Given the description of an element on the screen output the (x, y) to click on. 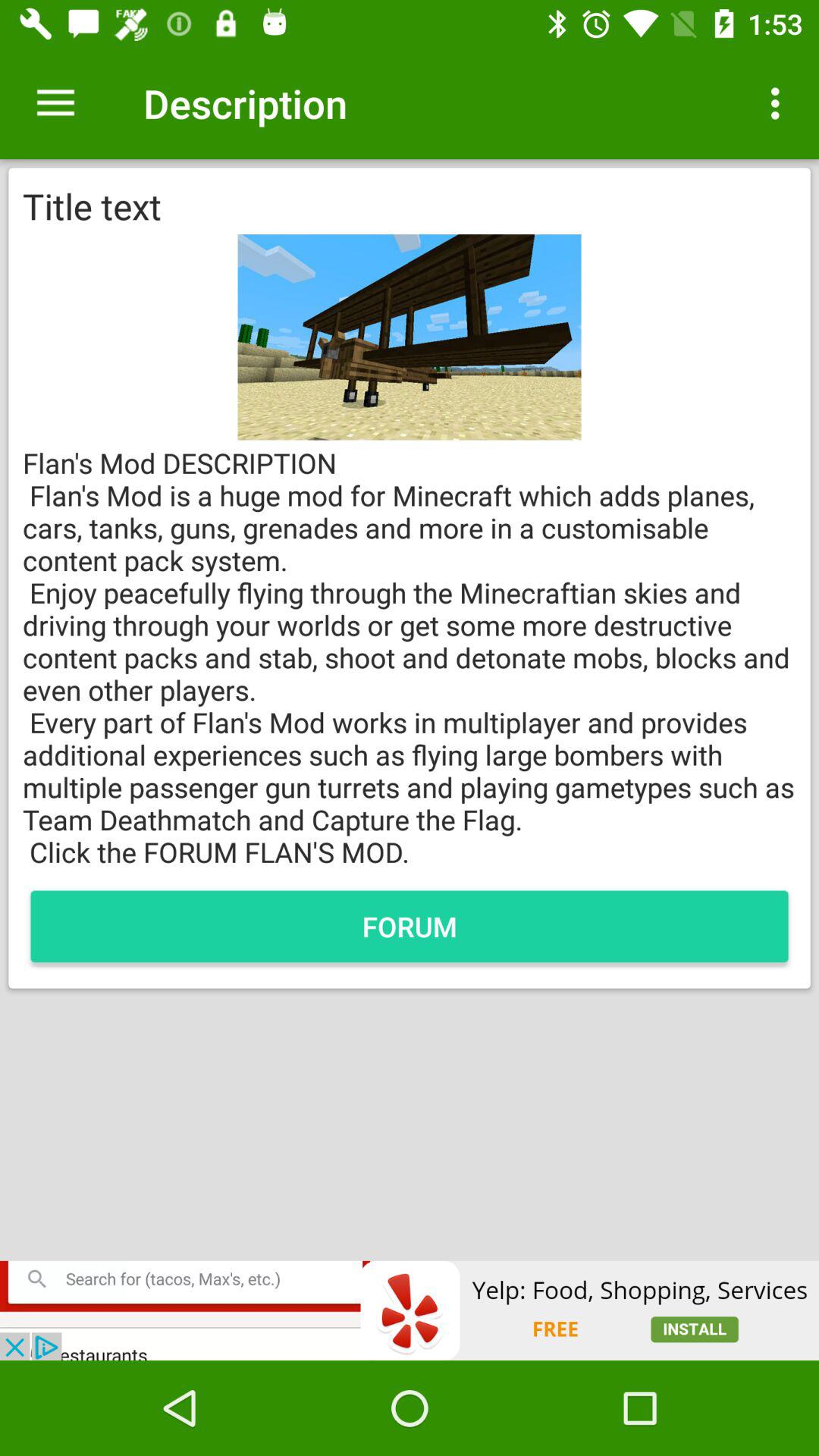
open advertisement (409, 1310)
